Given the description of an element on the screen output the (x, y) to click on. 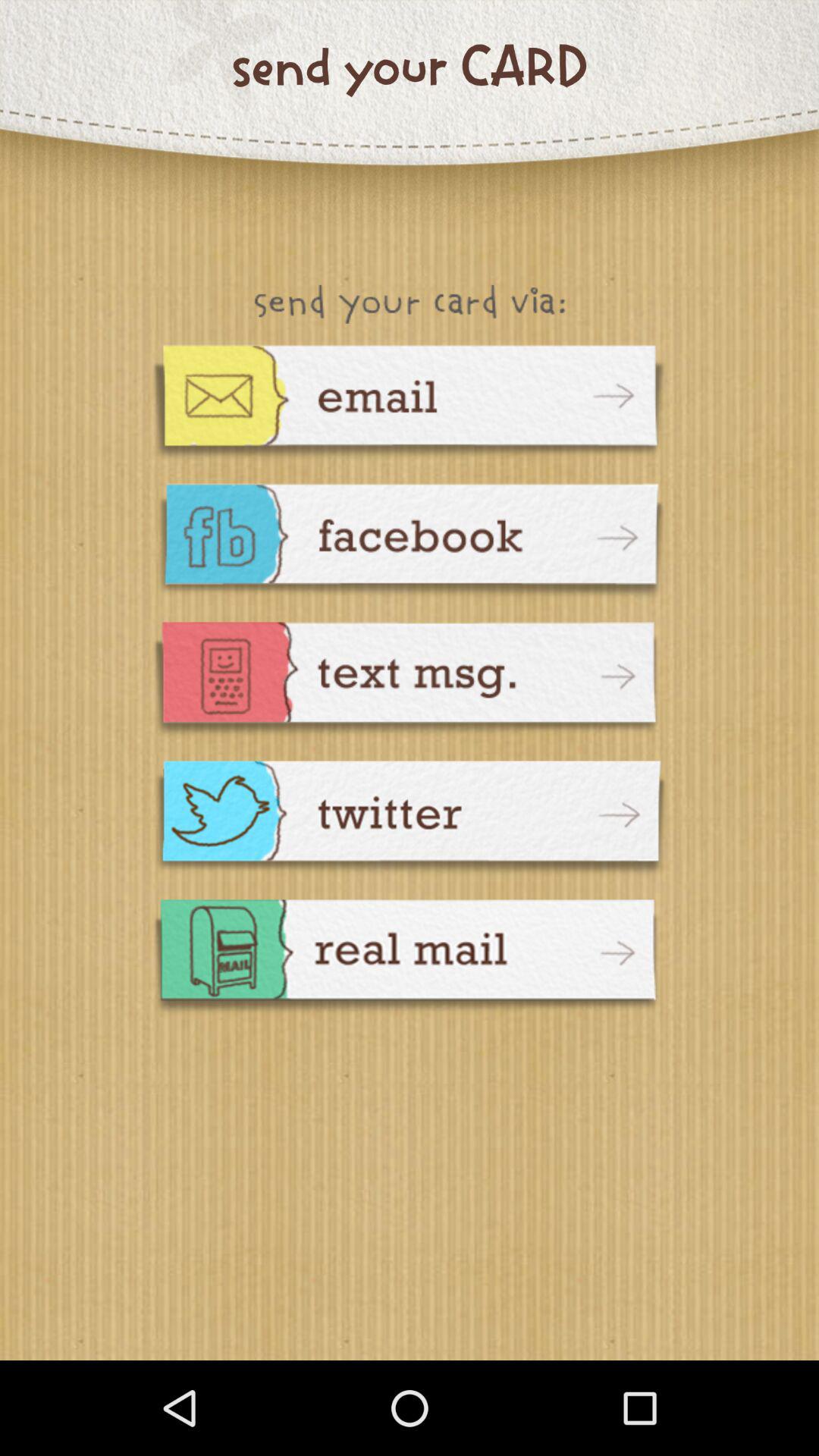
share card on twitter (409, 819)
